Given the description of an element on the screen output the (x, y) to click on. 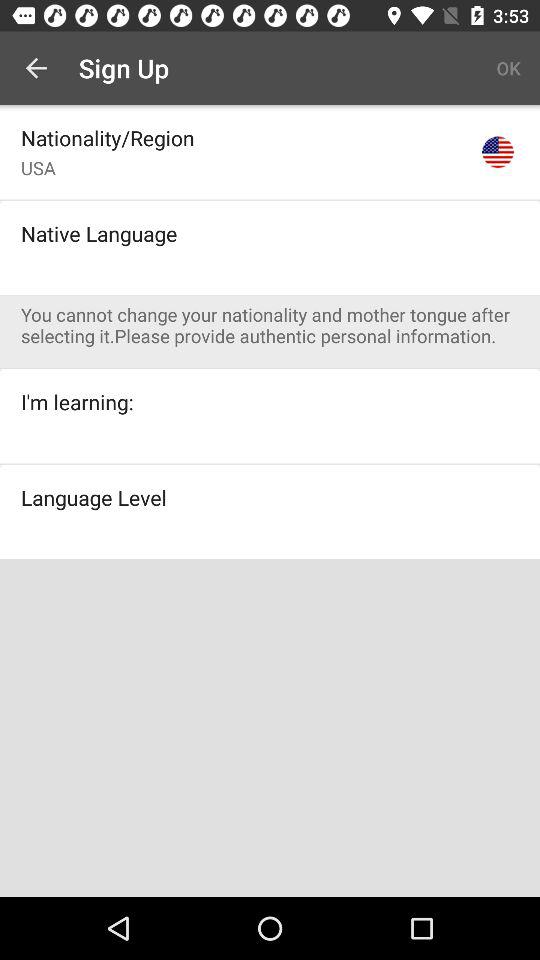
turn on the item to the left of sign up (36, 68)
